Given the description of an element on the screen output the (x, y) to click on. 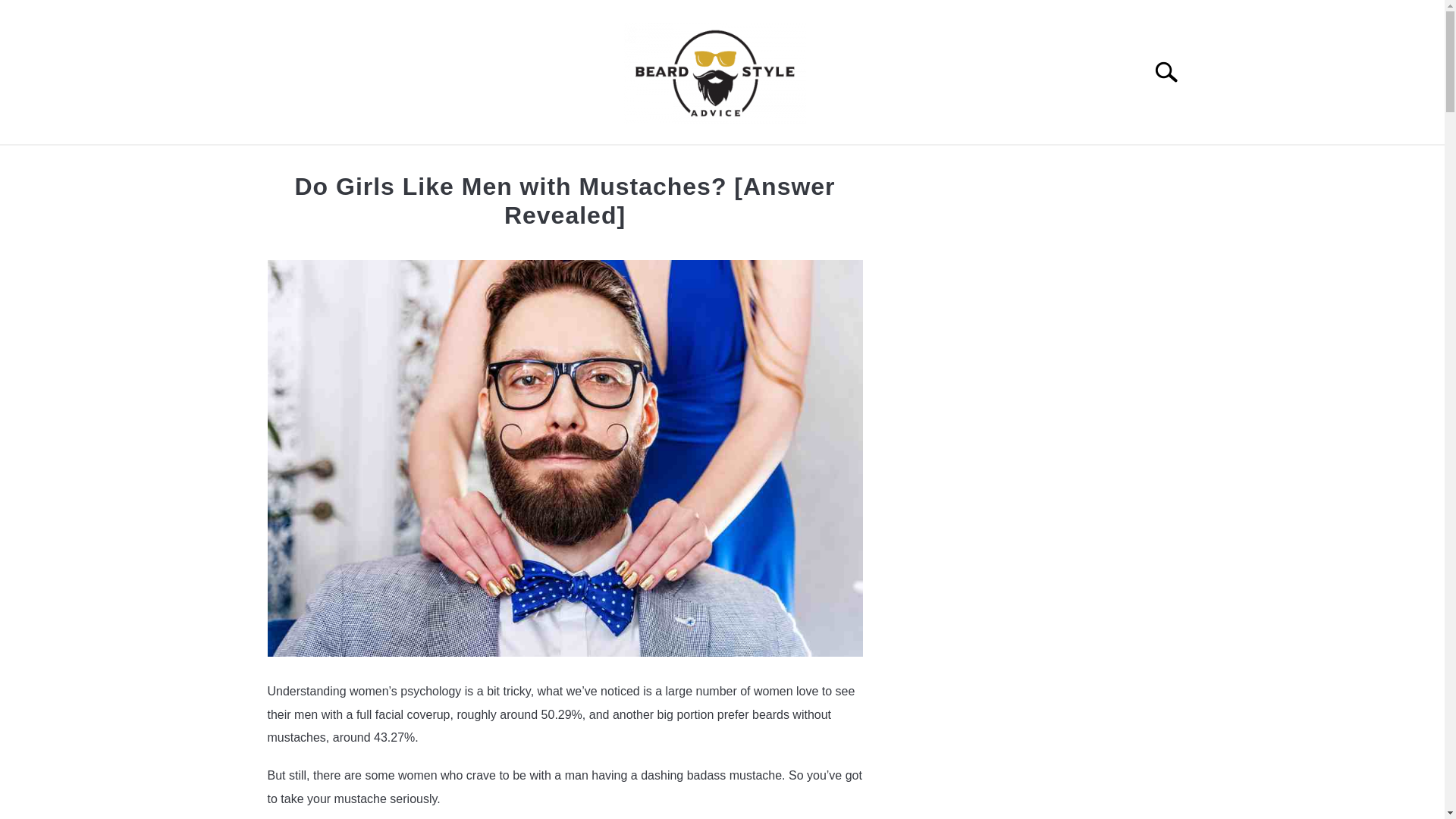
MUSTACHE (789, 162)
OTHER INFO (899, 162)
STYLE TIPS (682, 162)
Search (1172, 71)
HOW TO GUIDES (557, 162)
